Given the description of an element on the screen output the (x, y) to click on. 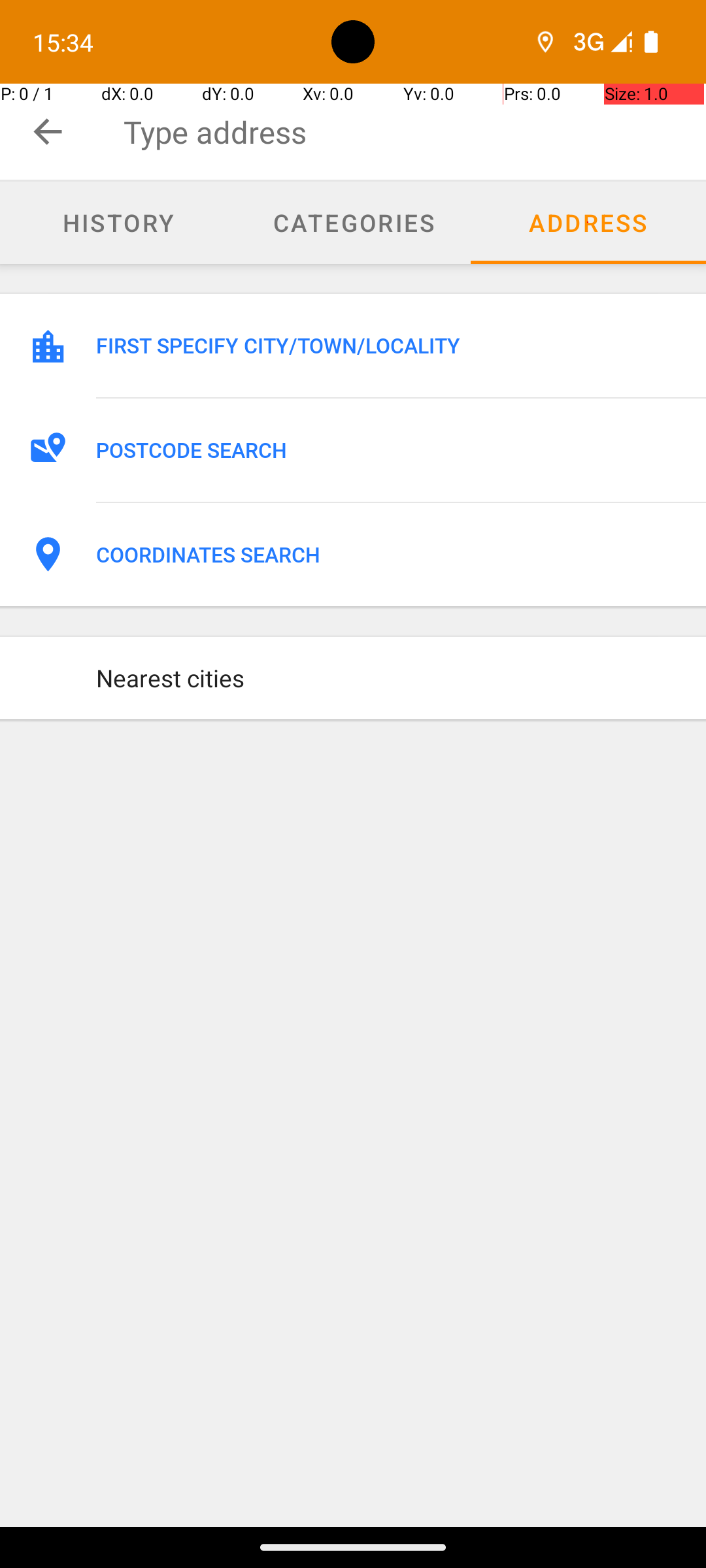
Type address Element type: android.widget.EditText (414, 131)
History Element type: android.widget.LinearLayout (117, 222)
Categories Element type: android.widget.LinearLayout (352, 222)
Address Element type: android.widget.LinearLayout (588, 222)
HISTORY Element type: android.widget.TextView (117, 222)
CATEGORIES Element type: android.widget.TextView (352, 222)
ADDRESS Element type: android.widget.TextView (587, 222)
FIRST SPECIFY CITY/TOWN/LOCALITY Element type: android.widget.TextView (387, 345)
POSTCODE SEARCH Element type: android.widget.TextView (387, 450)
COORDINATES SEARCH Element type: android.widget.TextView (387, 554)
Nearest cities Element type: android.widget.TextView (387, 678)
